Given the description of an element on the screen output the (x, y) to click on. 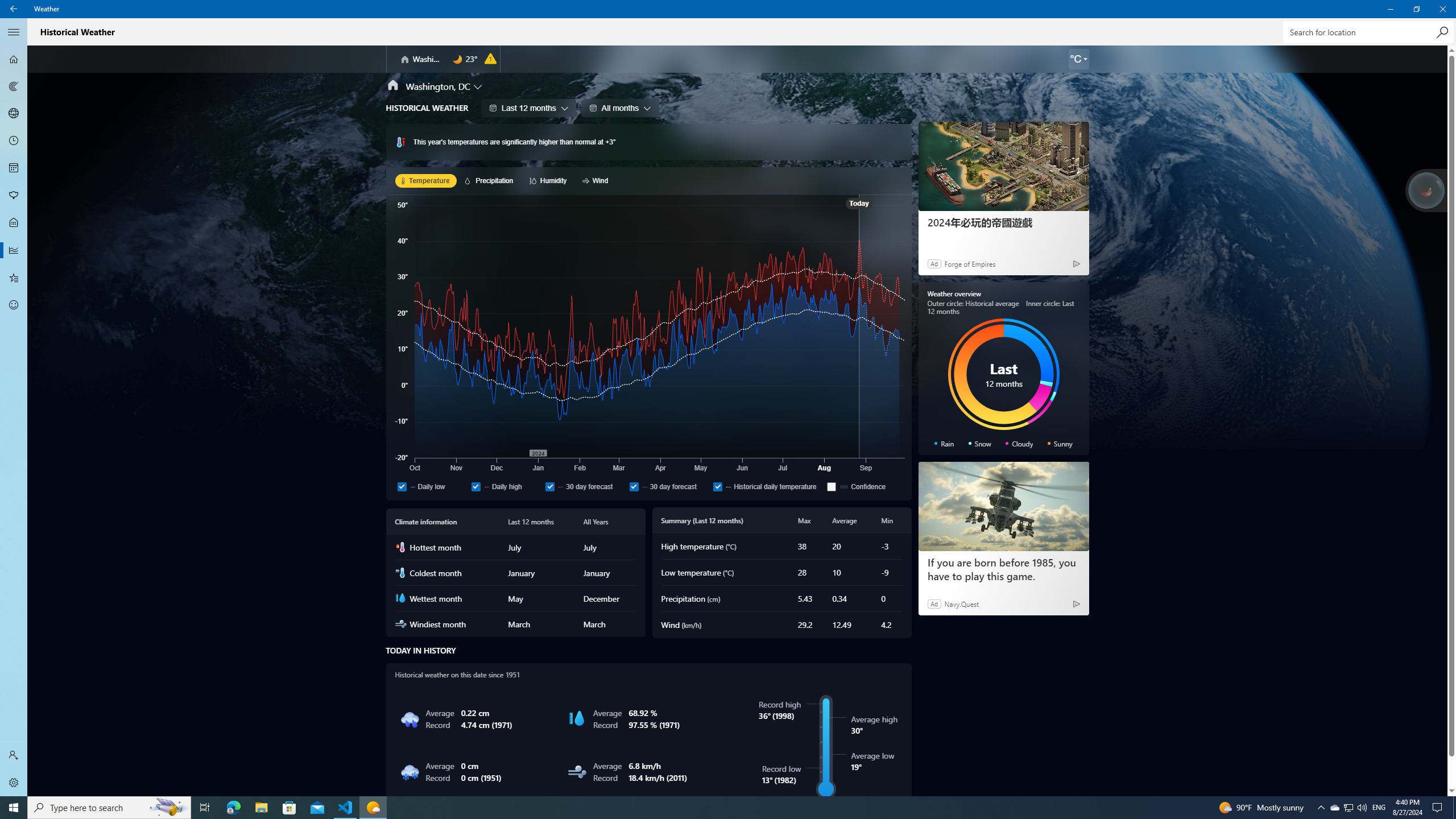
Notification Chevron (1320, 807)
Monthly Forecast - Not Selected (13, 167)
Life - Not Selected (13, 222)
Favorites - Not Selected (13, 277)
Monthly Forecast - Not Selected (13, 167)
Sign in (13, 755)
Show desktop (1454, 807)
Settings (13, 782)
Send Feedback - Not Selected (13, 304)
Life - Not Selected (13, 222)
Action Center, No new notifications (1439, 807)
Back (13, 9)
File Explorer (261, 807)
Running applications (706, 807)
